Given the description of an element on the screen output the (x, y) to click on. 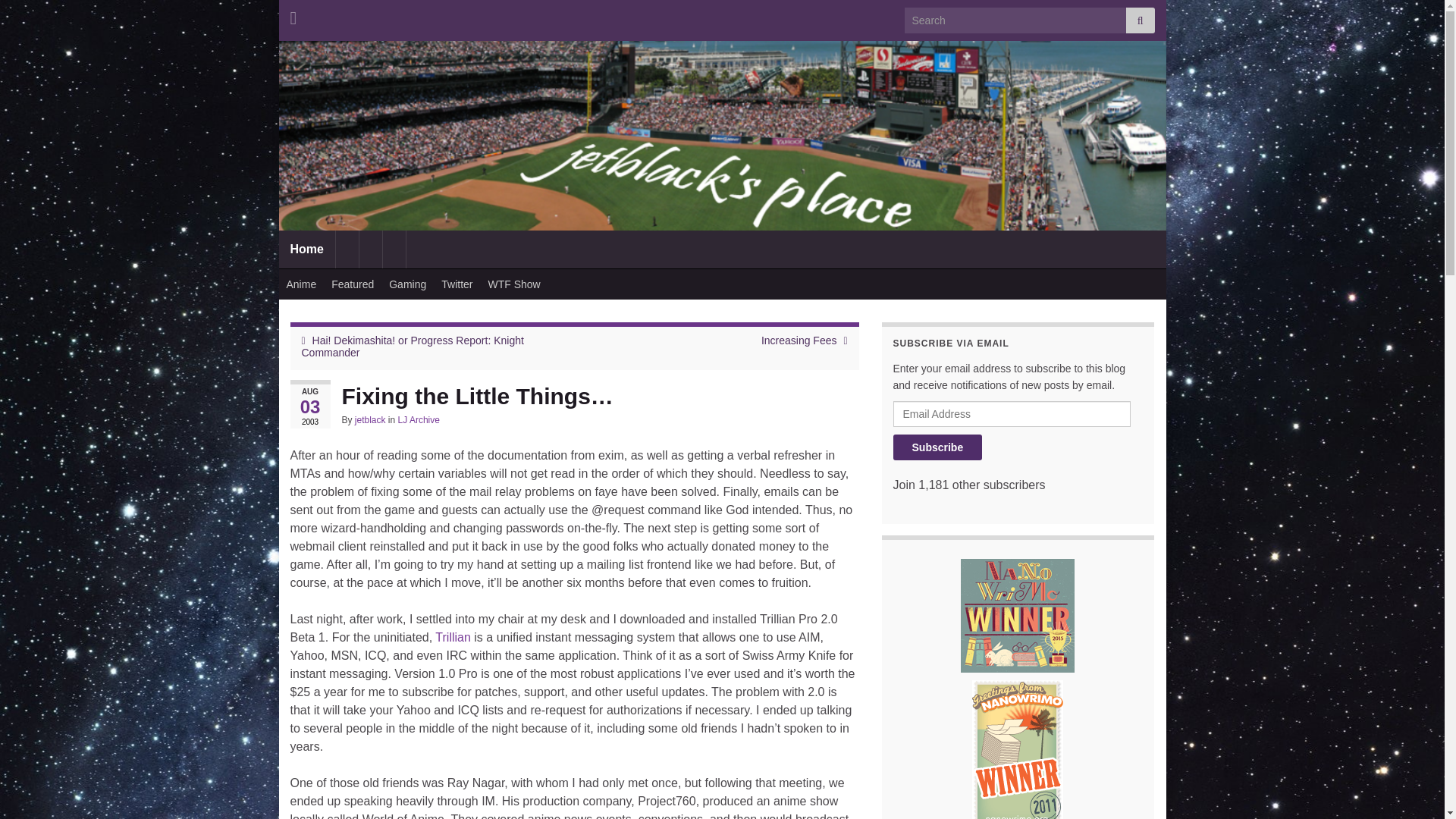
Gaming (407, 284)
Home (306, 249)
Hai! Dekimashita! or Progress Report: Knight Commander (412, 346)
LJ Archive (418, 419)
Increasing Fees (799, 340)
Trillian (452, 636)
Subscribe (937, 447)
jetblack (370, 419)
WTF Show (514, 284)
